Given the description of an element on the screen output the (x, y) to click on. 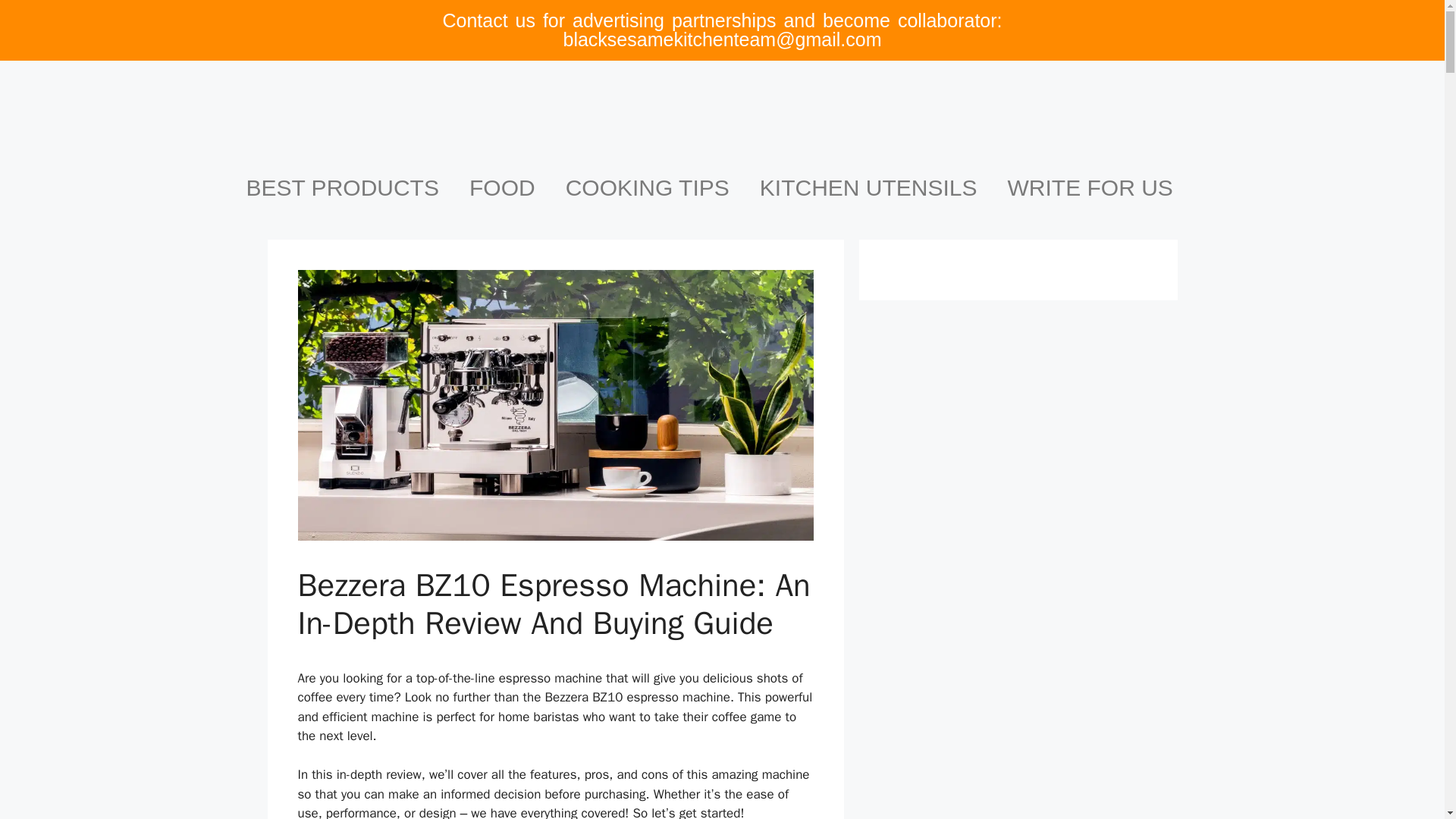
COOKING TIPS (647, 187)
KITCHEN UTENSILS (868, 187)
FOOD (502, 187)
BEST PRODUCTS (342, 187)
WRITE FOR US (1090, 187)
